Given the description of an element on the screen output the (x, y) to click on. 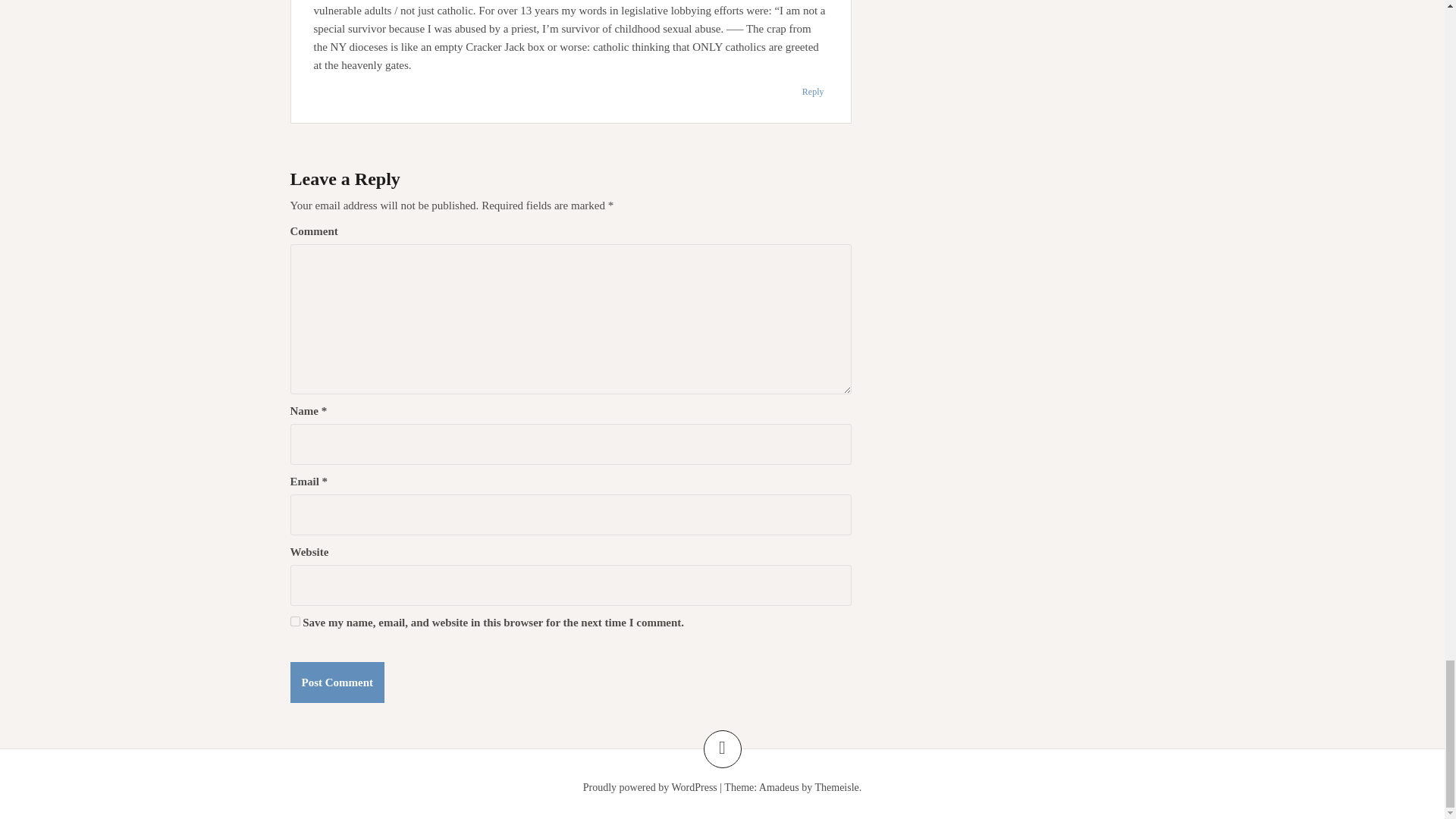
Reply (812, 91)
Proudly powered by WordPress (650, 787)
Post Comment (336, 681)
yes (294, 621)
Post Comment (336, 681)
Amadeus (778, 787)
